Given the description of an element on the screen output the (x, y) to click on. 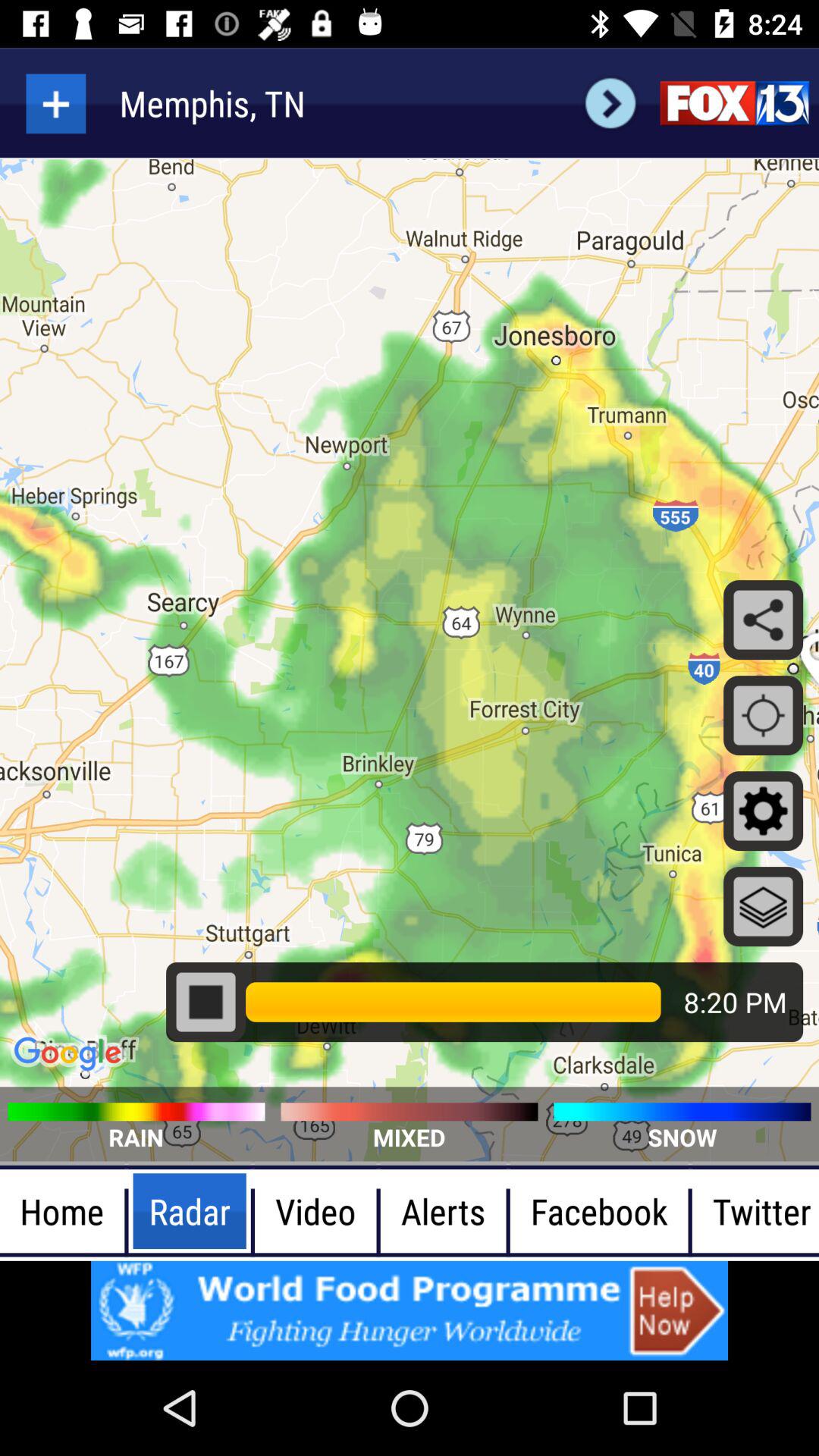
add new city (55, 103)
